Given the description of an element on the screen output the (x, y) to click on. 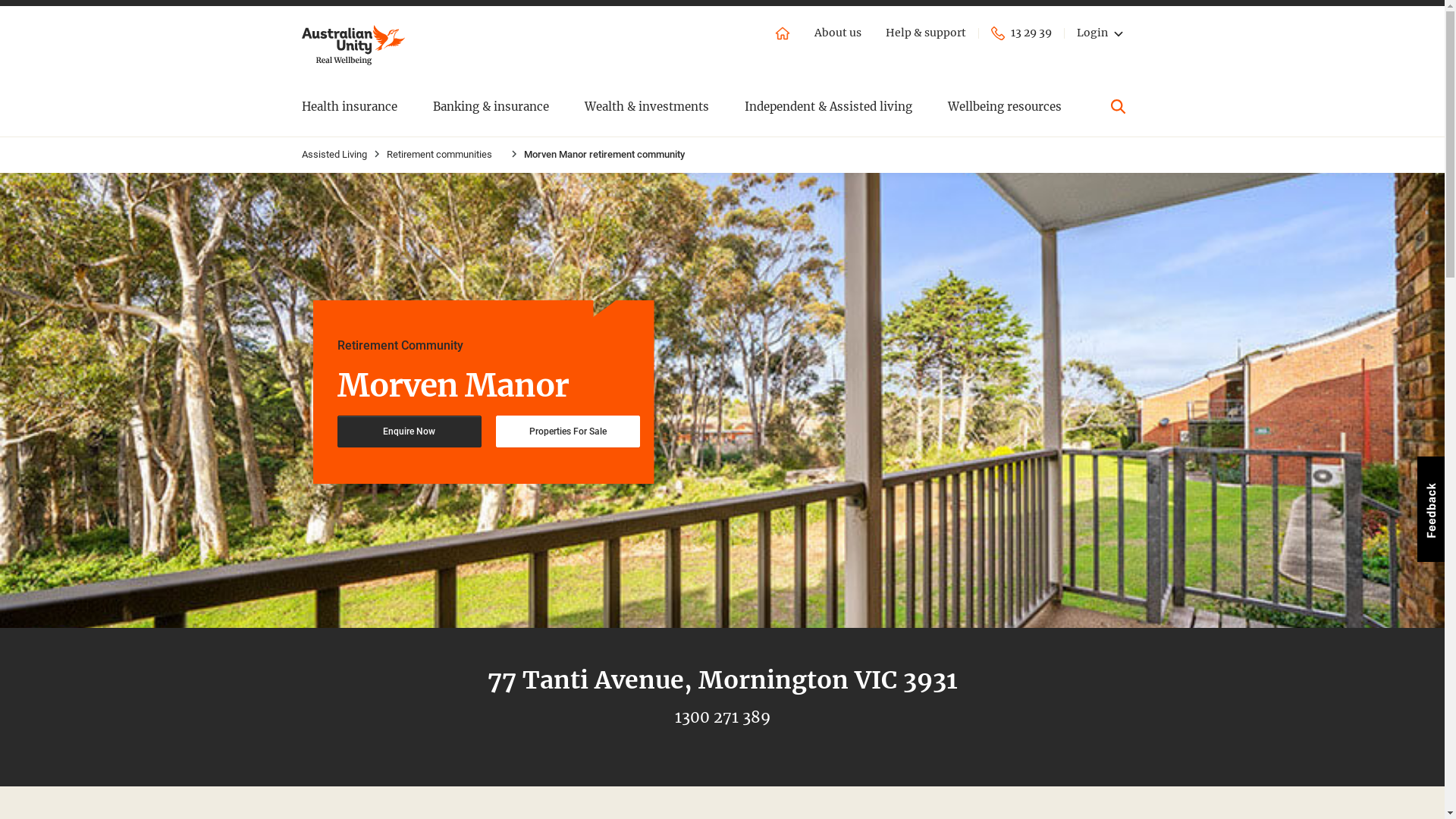
Help & support Element type: text (925, 32)
Wellbeing resources Element type: text (1004, 106)
Retirement communities Element type: text (439, 154)
About us Element type: text (837, 32)
Assisted Living Element type: text (334, 154)
Banking & insurance Element type: text (490, 106)
Home Element type: text (782, 32)
Enquire Now Element type: text (408, 431)
Independent & Assisted living Element type: text (828, 106)
Health insurance Element type: text (349, 106)
Wealth & investments Element type: text (645, 106)
Search Element type: text (1117, 106)
Login Element type: text (1103, 32)
Properties For Sale Element type: text (567, 431)
13 29 39 Element type: text (1020, 32)
